Given the description of an element on the screen output the (x, y) to click on. 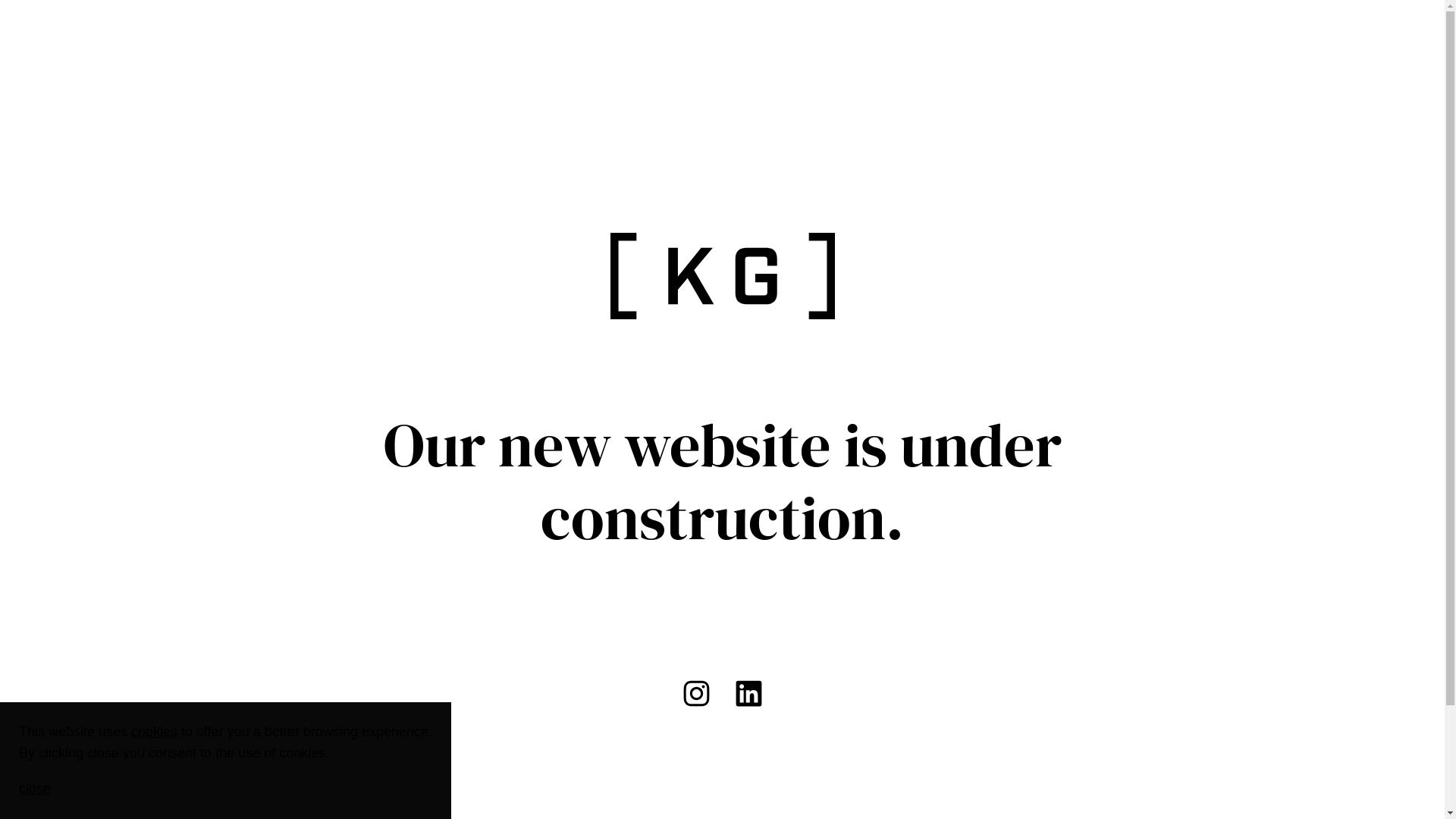
close Element type: text (34, 788)
Instagram Element type: text (696, 693)
LinkedIn Element type: text (748, 693)
cookies Element type: text (154, 731)
